Given the description of an element on the screen output the (x, y) to click on. 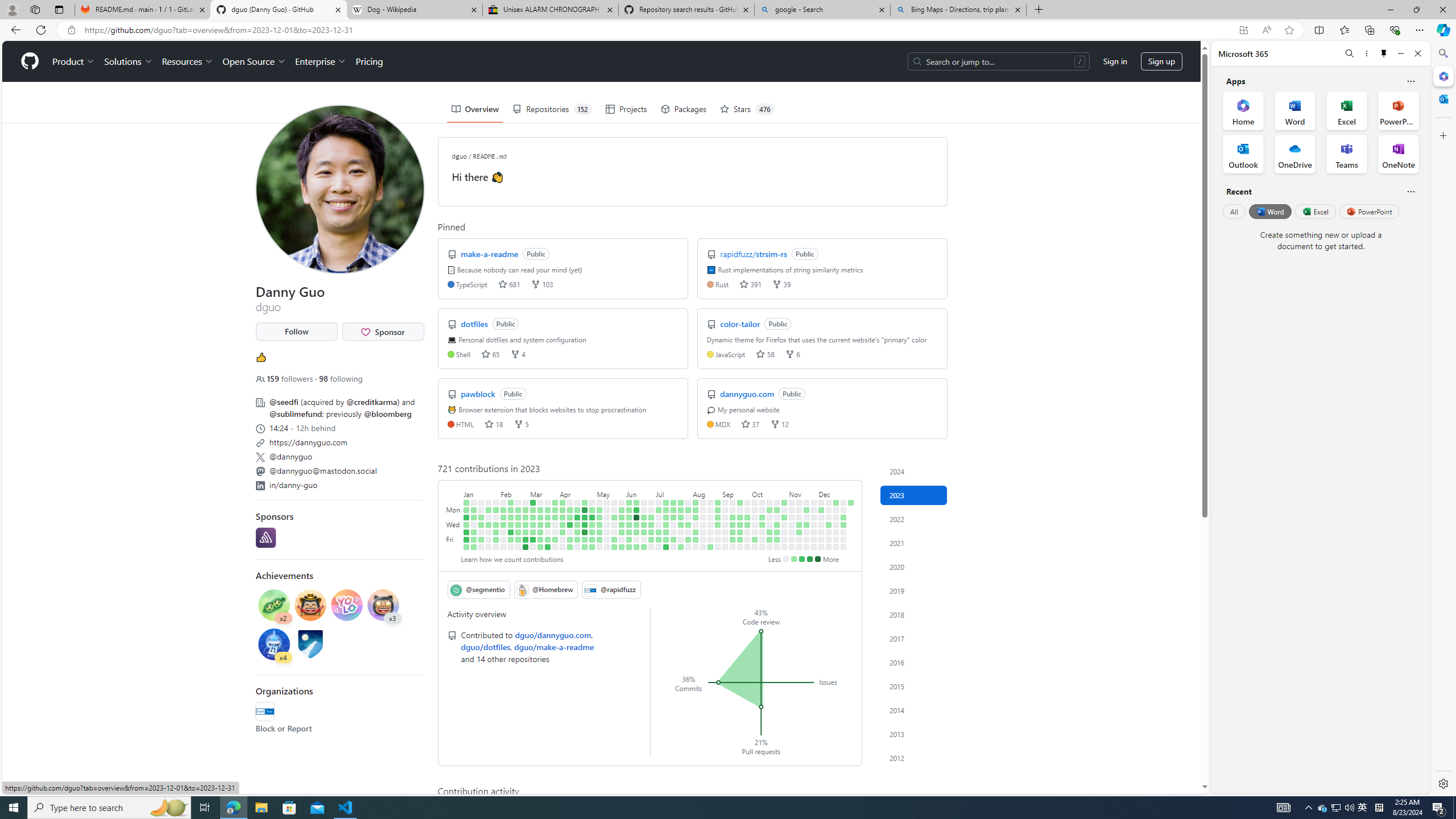
1 contribution on March 22nd. (547, 524)
2023 (913, 494)
dguo/make-a-readme (553, 646)
3 contributions on April 11th. (569, 517)
Thursday (454, 531)
pawblock (478, 393)
No contributions on December 24th. (843, 502)
stars (746, 424)
No contributions on July 30th. (688, 502)
Pricing (368, 60)
No contributions on February 11th. (503, 546)
4 contributions on June 4th. (628, 502)
No contributions on December 28th. (843, 531)
No contributions on October 1st. (754, 502)
No contributions on May 19th. (607, 539)
